Given the description of an element on the screen output the (x, y) to click on. 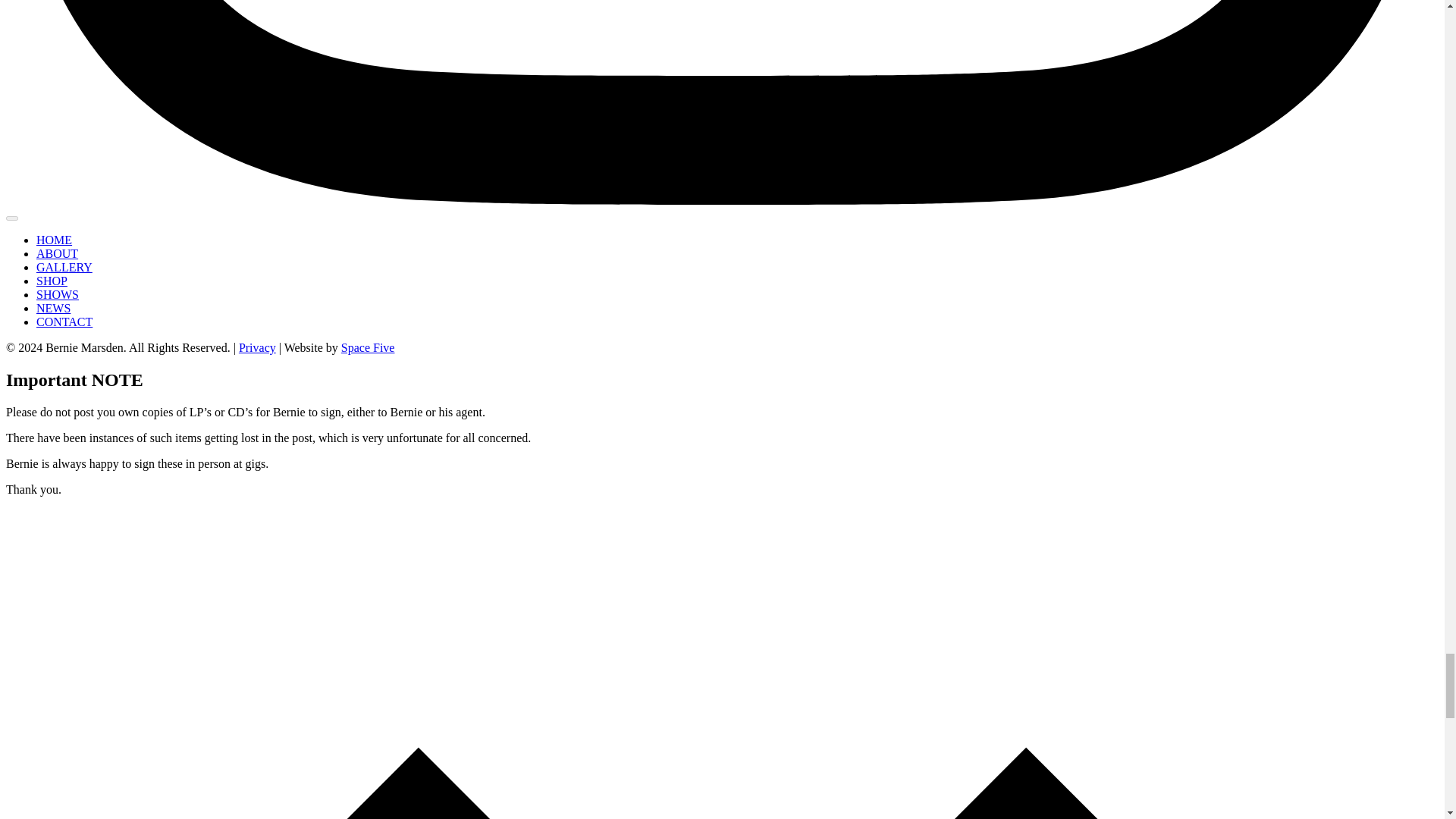
Privacy (257, 347)
HOME (53, 239)
SHOP (51, 280)
GALLERY (64, 267)
Space Five (367, 347)
ABOUT (57, 253)
SHOWS (57, 294)
CONTACT (64, 321)
NEWS (52, 308)
